Given the description of an element on the screen output the (x, y) to click on. 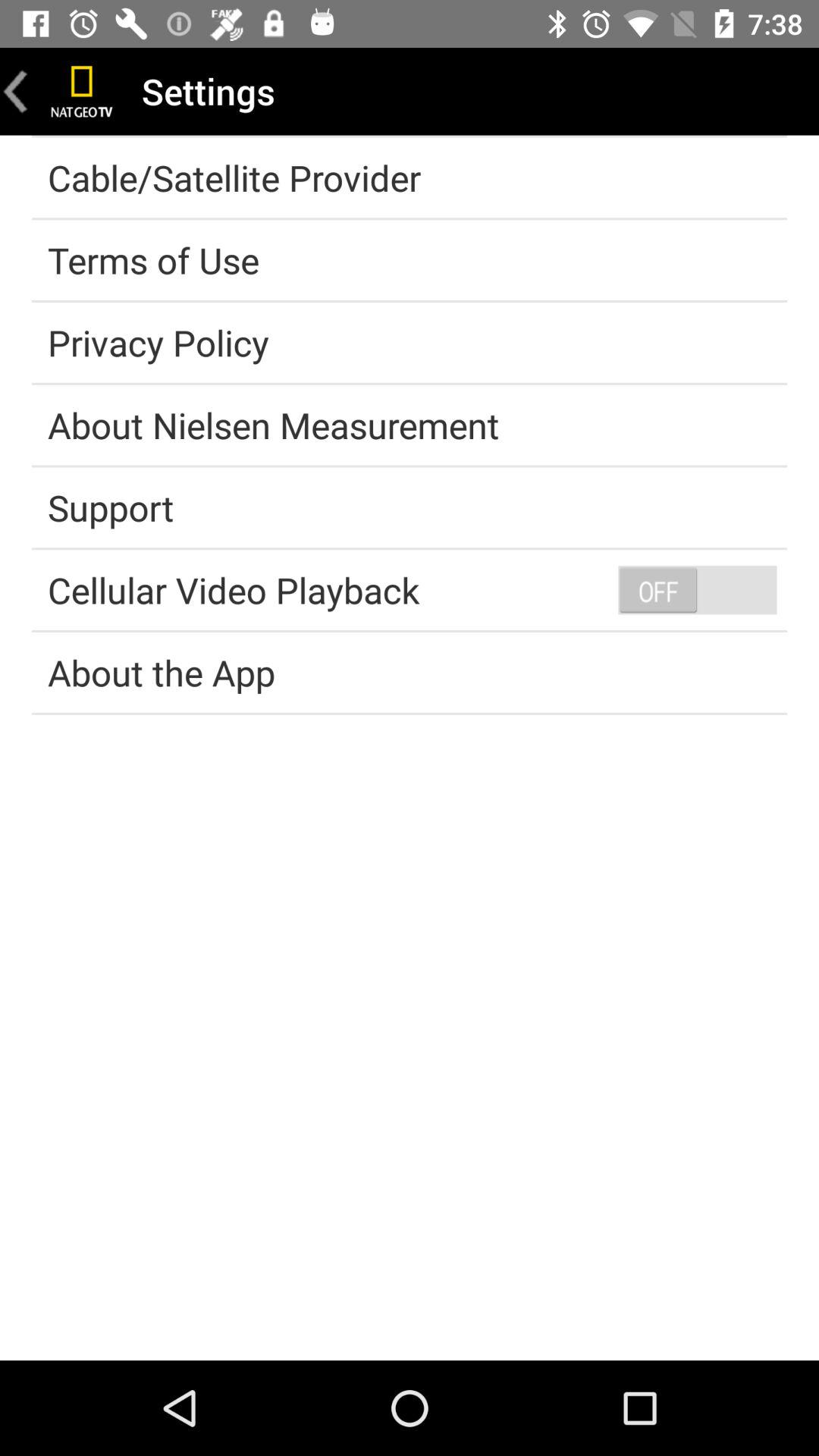
return page (15, 91)
